Given the description of an element on the screen output the (x, y) to click on. 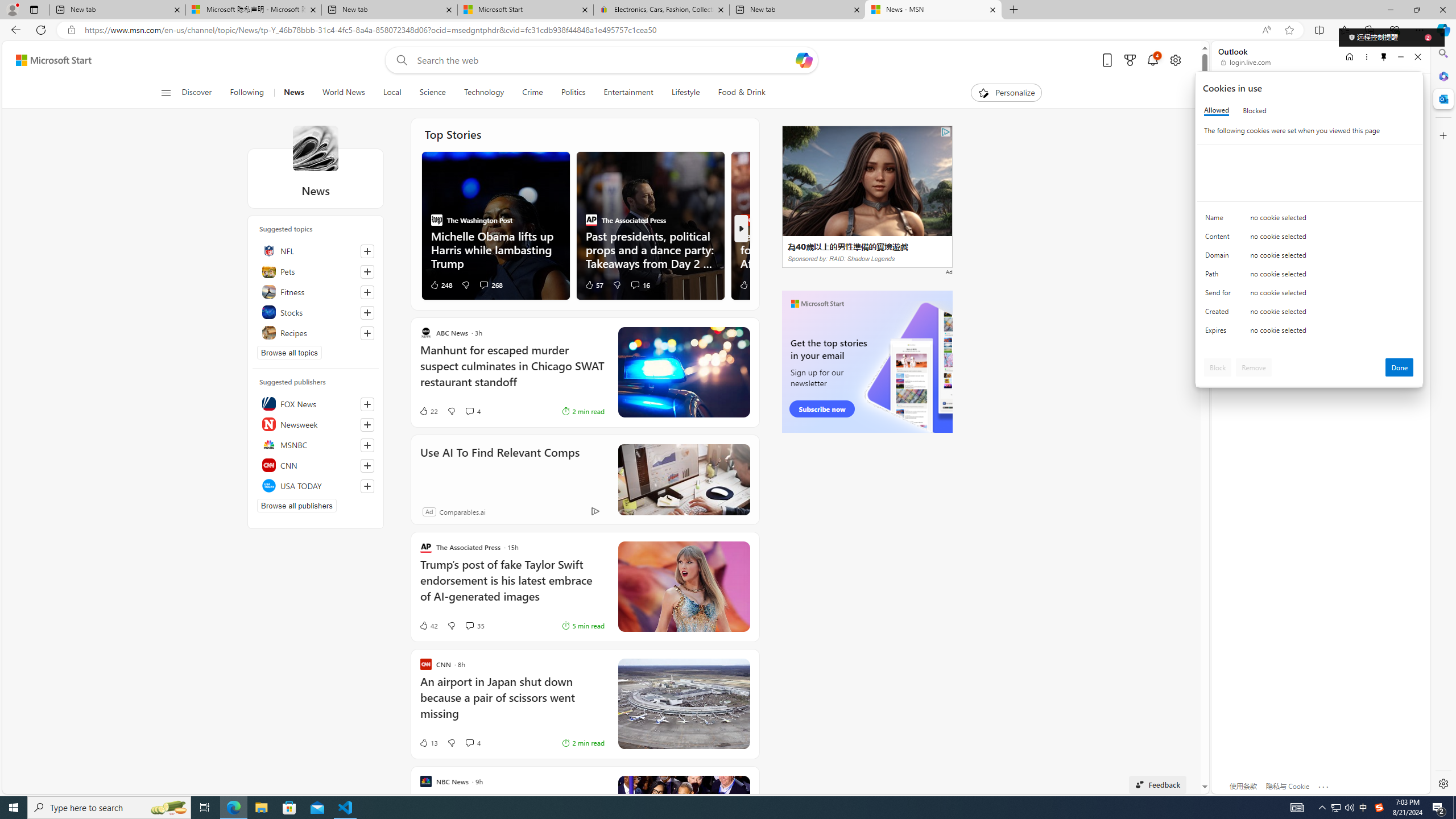
News - MSN (933, 9)
248 Like (441, 284)
Class: c0153 c0157 (1309, 332)
Follow this topic (367, 332)
Recipes (315, 332)
